Given the description of an element on the screen output the (x, y) to click on. 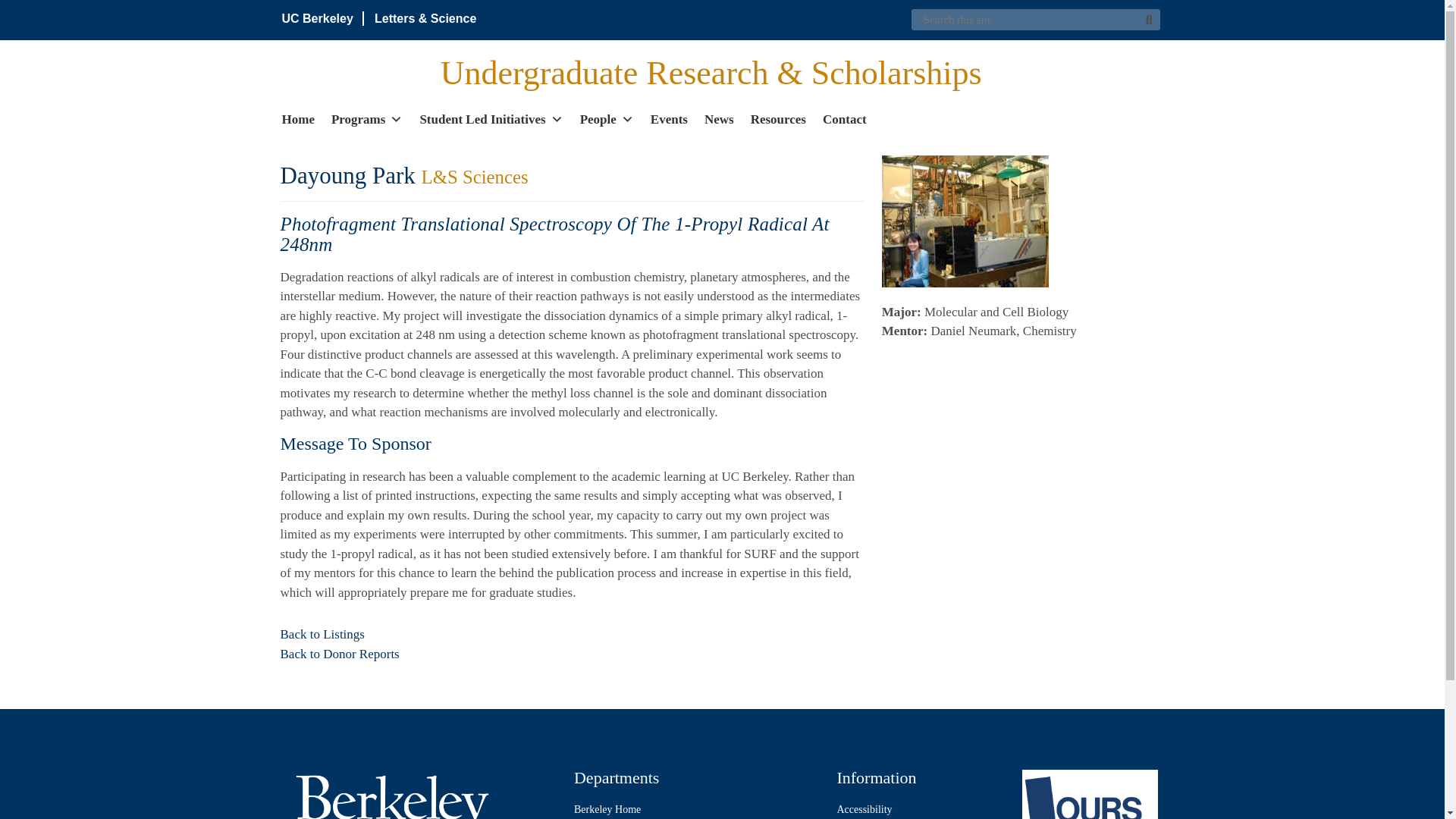
Home (298, 118)
Berkeley Home (697, 809)
Contact (844, 118)
Resources (778, 118)
Back to Donor Reports (339, 653)
People (606, 118)
Student Led Initiatives (490, 118)
Programs (367, 118)
Events (668, 118)
UC Berkeley (317, 18)
